Given the description of an element on the screen output the (x, y) to click on. 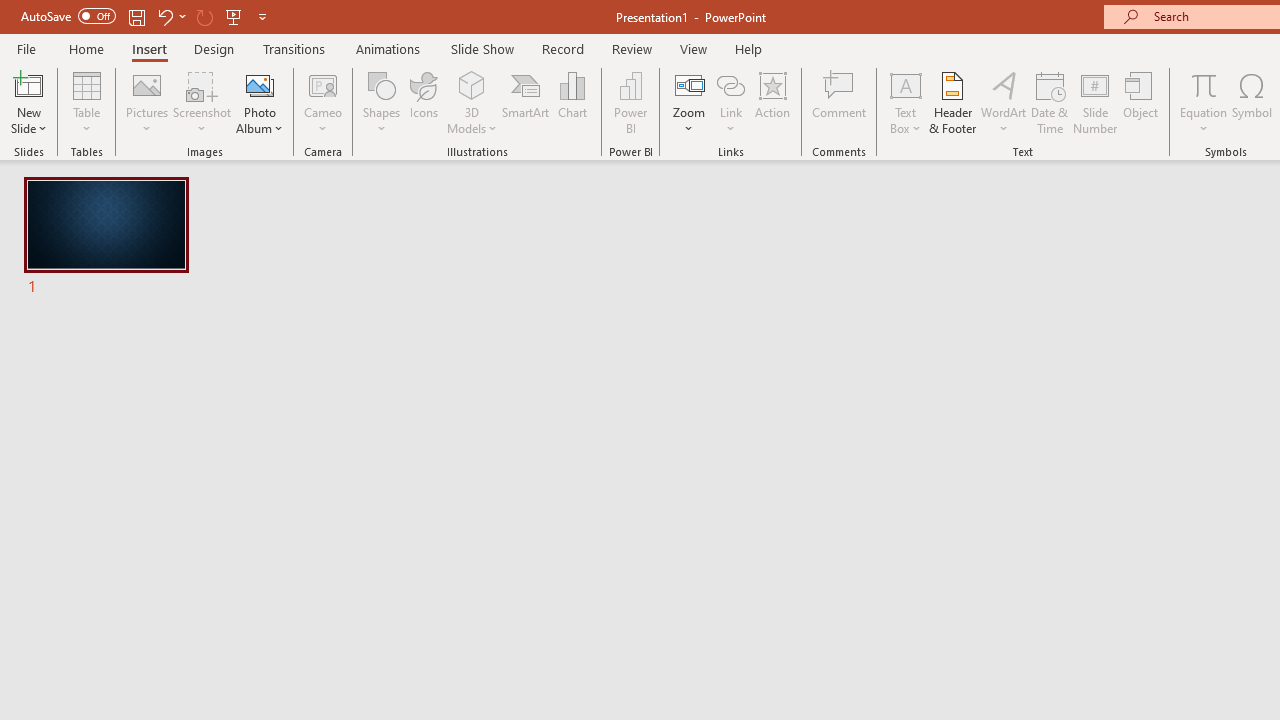
Power BI (630, 102)
New Slide (28, 102)
Chart... (572, 102)
Draw Horizontal Text Box (905, 84)
Comment (839, 102)
